Given the description of an element on the screen output the (x, y) to click on. 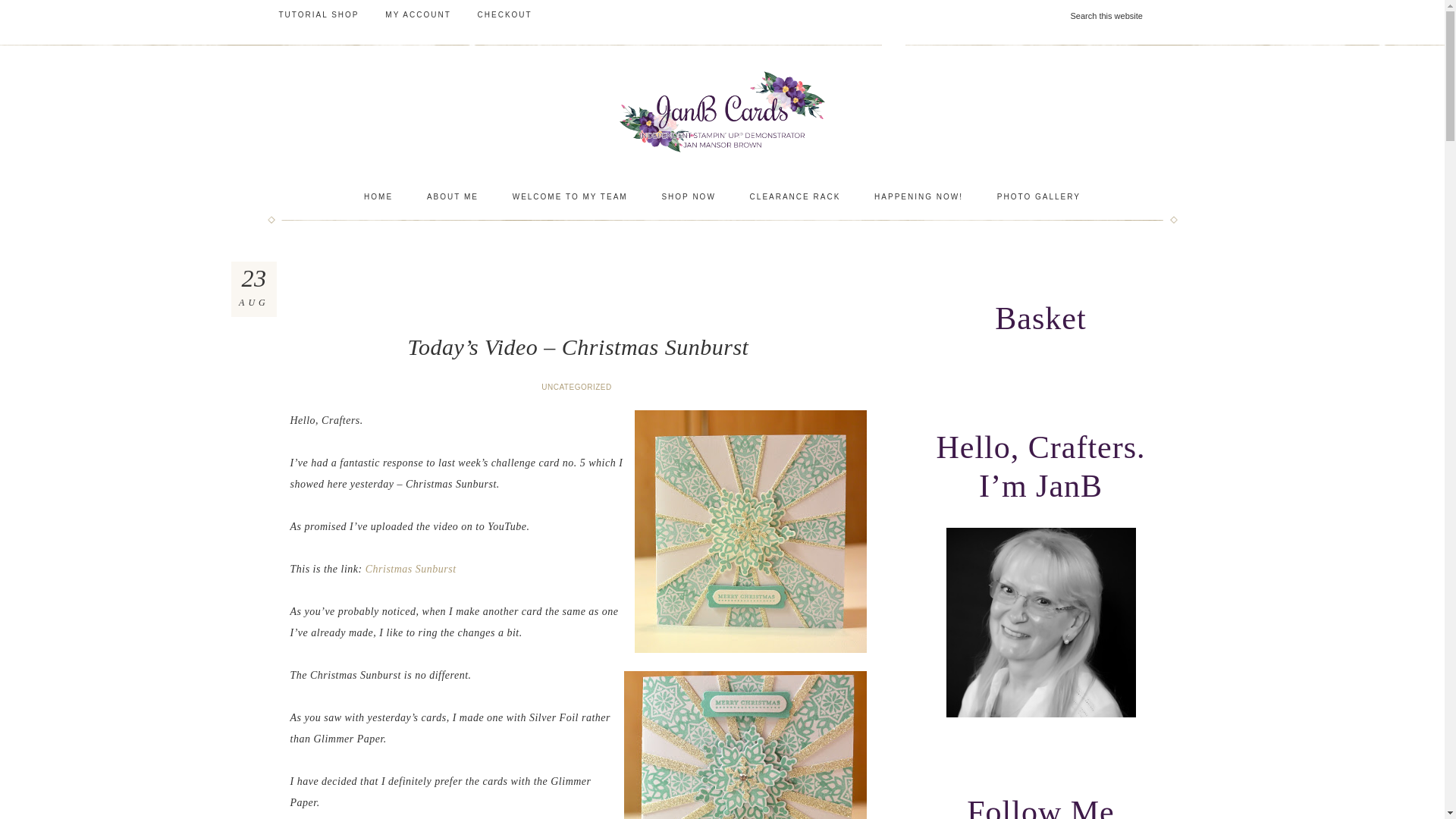
WELCOME TO MY TEAM (570, 197)
CHECKOUT (504, 15)
CLEARANCE RACK (795, 197)
Christmas Sunburst (411, 568)
HAPPENING NOW! (918, 197)
UNCATEGORIZED (577, 387)
PHOTO GALLERY (1038, 197)
HOME (378, 197)
ABOUT ME (452, 197)
SHOP NOW (688, 197)
MY ACCOUNT (418, 15)
TUTORIAL SHOP (317, 15)
JANB CARDS (721, 111)
